Given the description of an element on the screen output the (x, y) to click on. 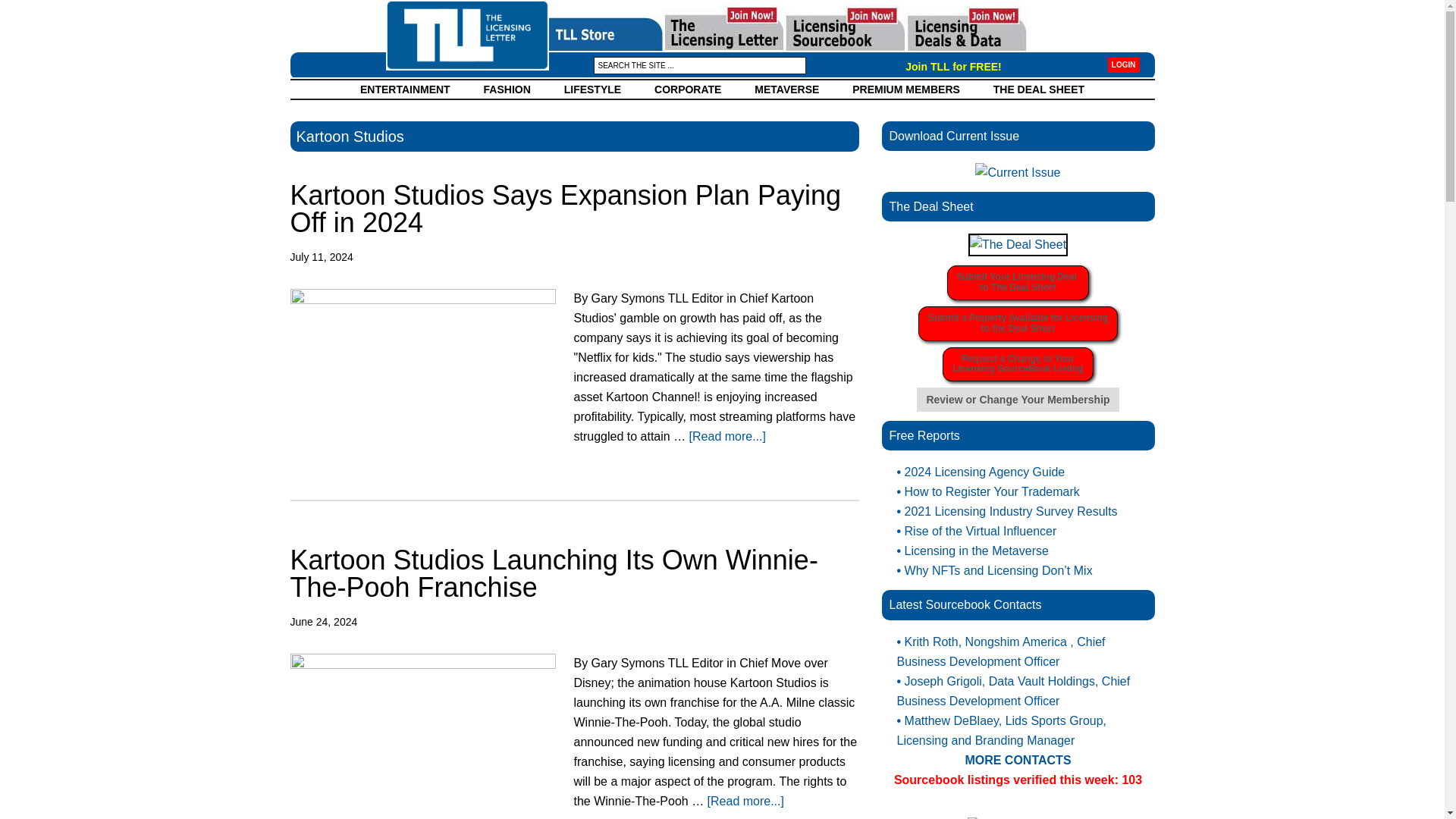
CORPORATE (687, 89)
Review or Change Your Membership (1017, 399)
PREMIUM MEMBERS (1018, 323)
Kartoon Studios Says Expansion Plan Paying Off in 2024 (906, 89)
ENTERTAINMENT (564, 208)
Kartoon Studios Launching Its Own Winnie-The-Pooh Franchise (405, 89)
Skip to main content (1018, 282)
THE DEAL SHEET (552, 573)
FASHION (1038, 89)
Join TLL for FREE! (1123, 64)
Search (507, 89)
